Given the description of an element on the screen output the (x, y) to click on. 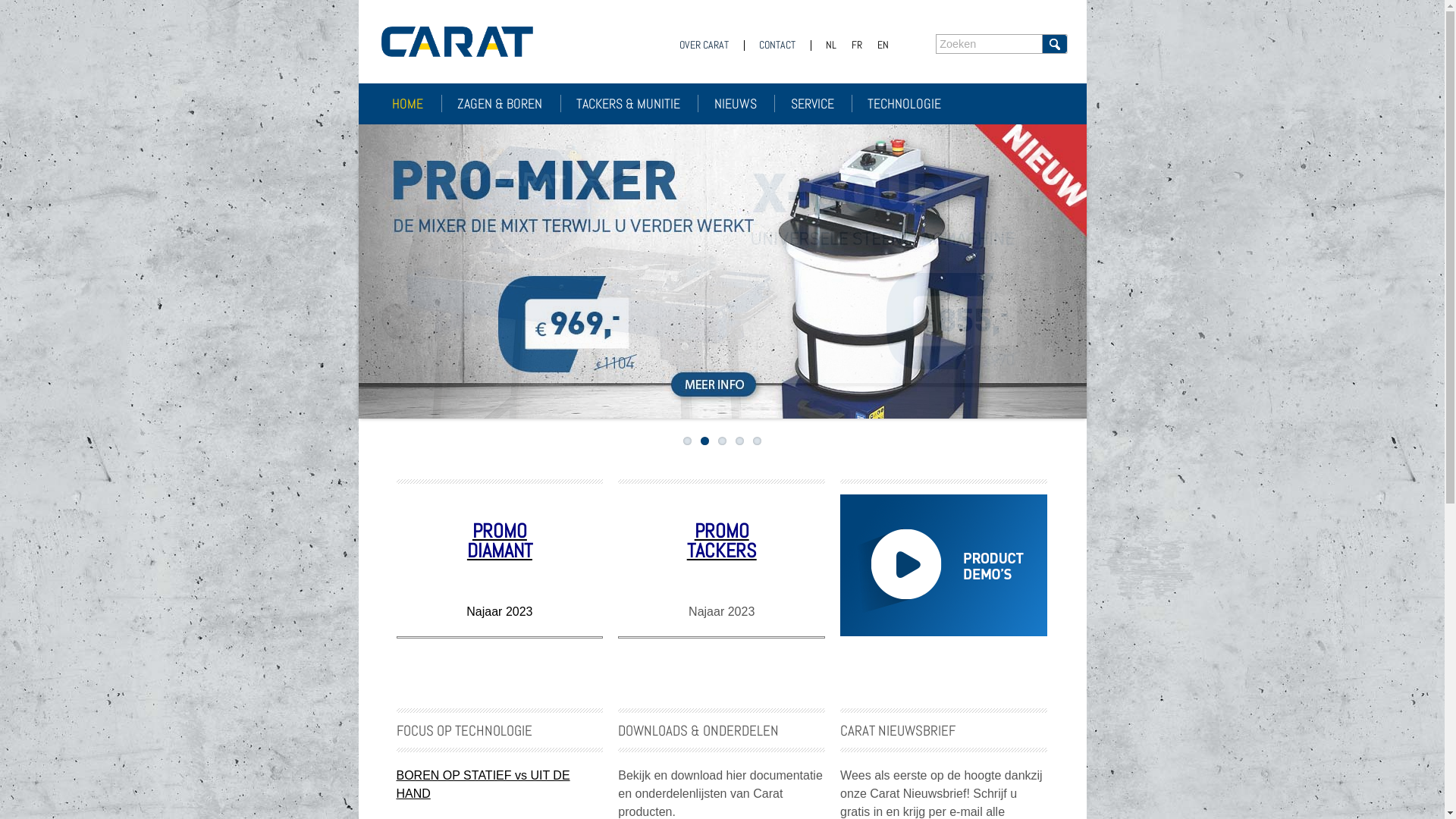
CONTACT Element type: text (777, 44)
EN Element type: text (882, 44)
ZAGEN & BOREN Element type: text (508, 103)
HOME Element type: text (416, 103)
3 Element type: text (722, 440)
4 Element type: text (739, 440)
SERVICE Element type: text (821, 103)
5 Element type: text (757, 440)
OVER CARAT Element type: text (703, 44)
2 Element type: text (704, 440)
BOREN OP STATIEF vs UIT DE HAND Element type: text (482, 784)
PROMO
TACKERS Element type: text (721, 540)
FR Element type: text (855, 44)
TECHNOLOGIE Element type: text (912, 103)
1 Element type: text (687, 440)
Geef de woorden op waarnaar u wilt zoeken. Element type: hover (988, 43)
NL Element type: text (830, 44)
TACKERS & MUNITIE Element type: text (637, 103)
NIEUWS Element type: text (744, 103)
Overslaan en naar de inhoud gaan Element type: text (93, 0)
PROMO
DIAMANT Element type: text (499, 540)
